Given the description of an element on the screen output the (x, y) to click on. 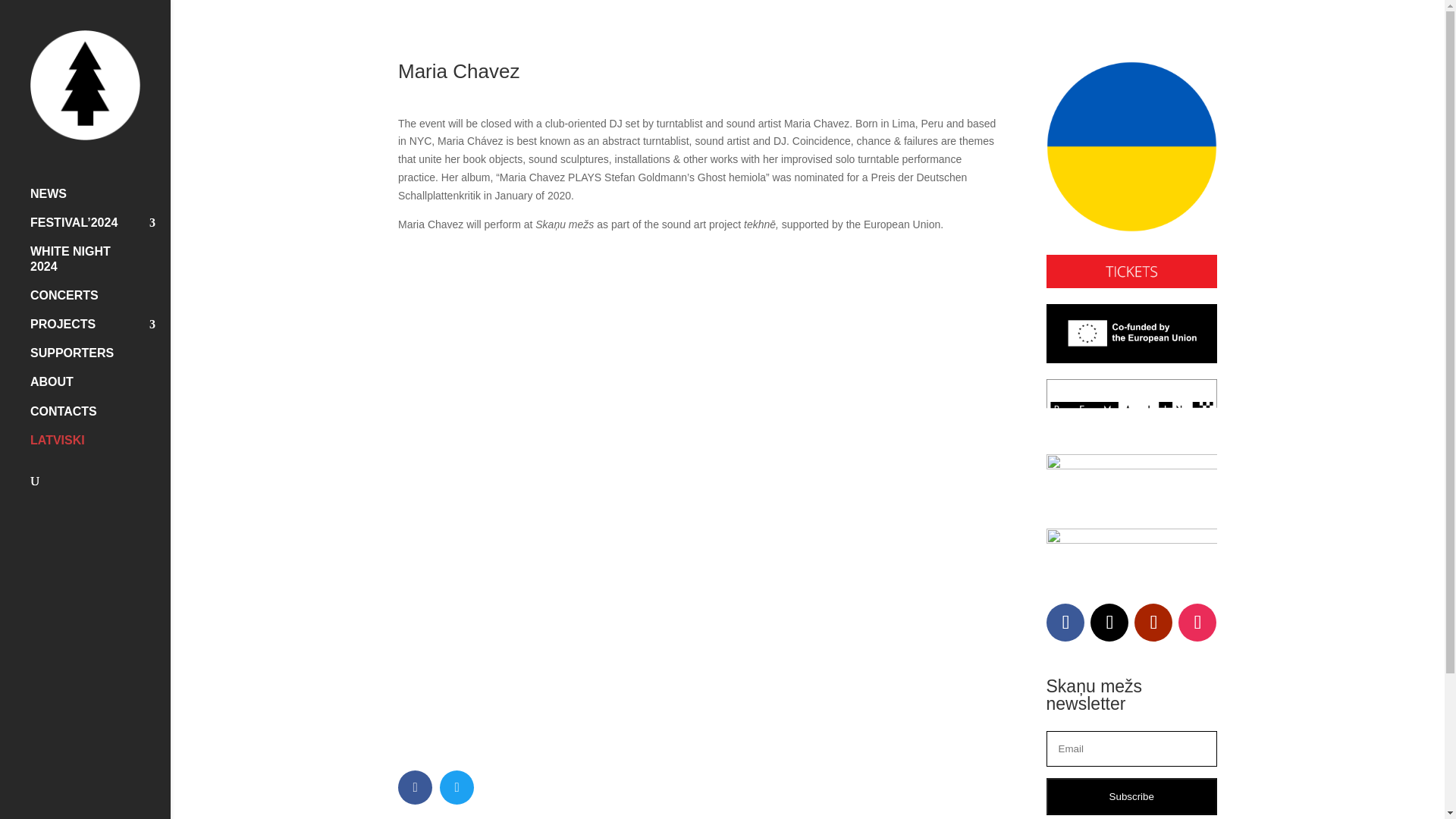
CONTACTS (100, 417)
ua-karogs (1131, 146)
SUPPORTERS (100, 359)
tekhne (1131, 483)
NEWS (100, 200)
WHITE NIGHT 2024 (100, 265)
Subscribe (1131, 796)
CONCERTS (100, 302)
Subscribe (1131, 796)
PROJECTS (100, 330)
